Given the description of an element on the screen output the (x, y) to click on. 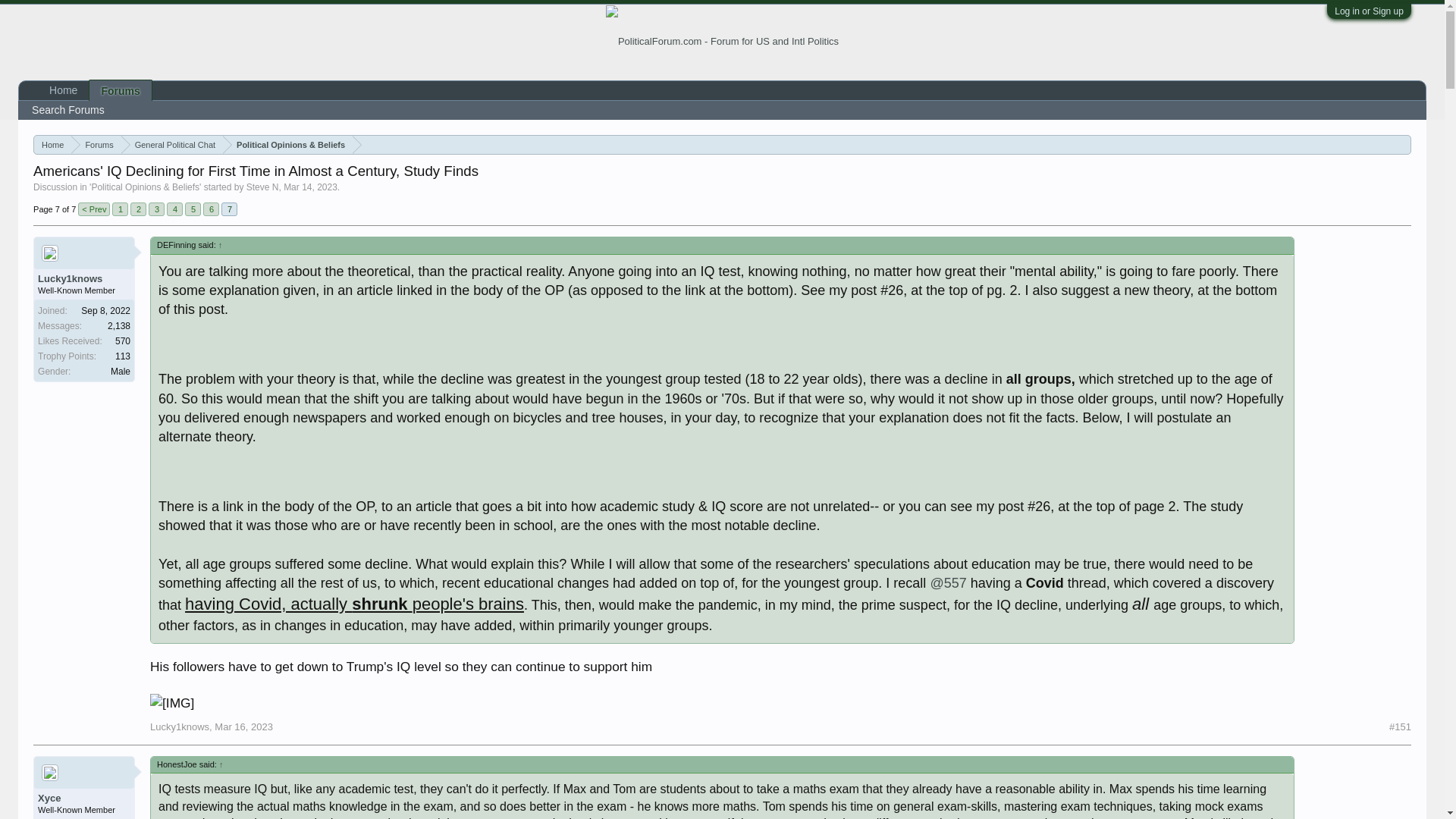
113 (123, 356)
Permalink (243, 726)
1 (120, 209)
5 (192, 209)
Xyce (84, 798)
Mar 16, 2023 (243, 726)
Mar 14, 2023 (310, 186)
Log in or Sign up (1369, 10)
Lucky1knows (84, 278)
Home (52, 144)
Steve N (262, 186)
Mar 14, 2023 at 1:09 PM (310, 186)
Permalink (1399, 727)
General Political Chat (171, 144)
Lucky1knows (179, 726)
